Given the description of an element on the screen output the (x, y) to click on. 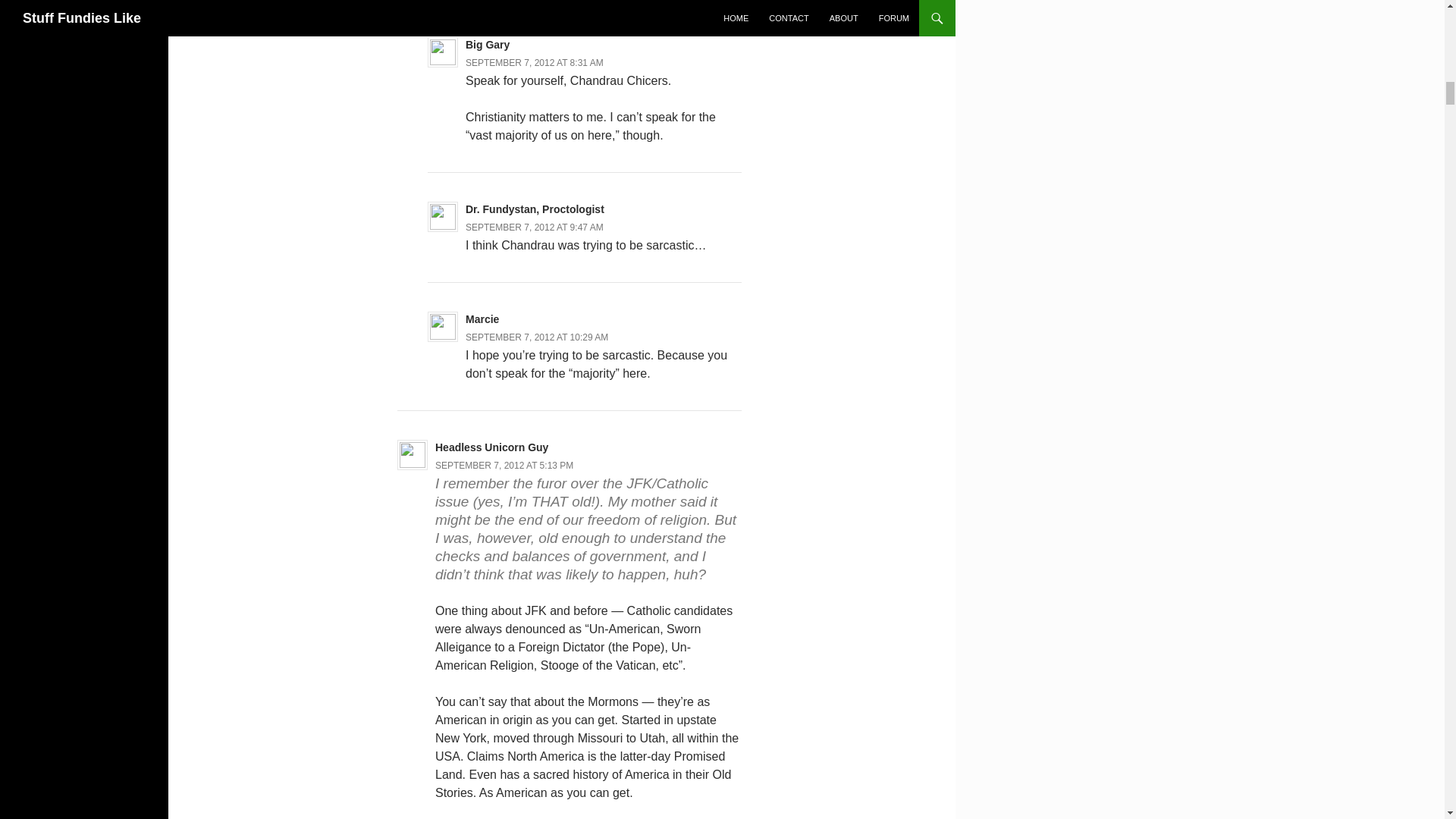
SEPTEMBER 7, 2012 AT 8:31 AM (534, 62)
